Given the description of an element on the screen output the (x, y) to click on. 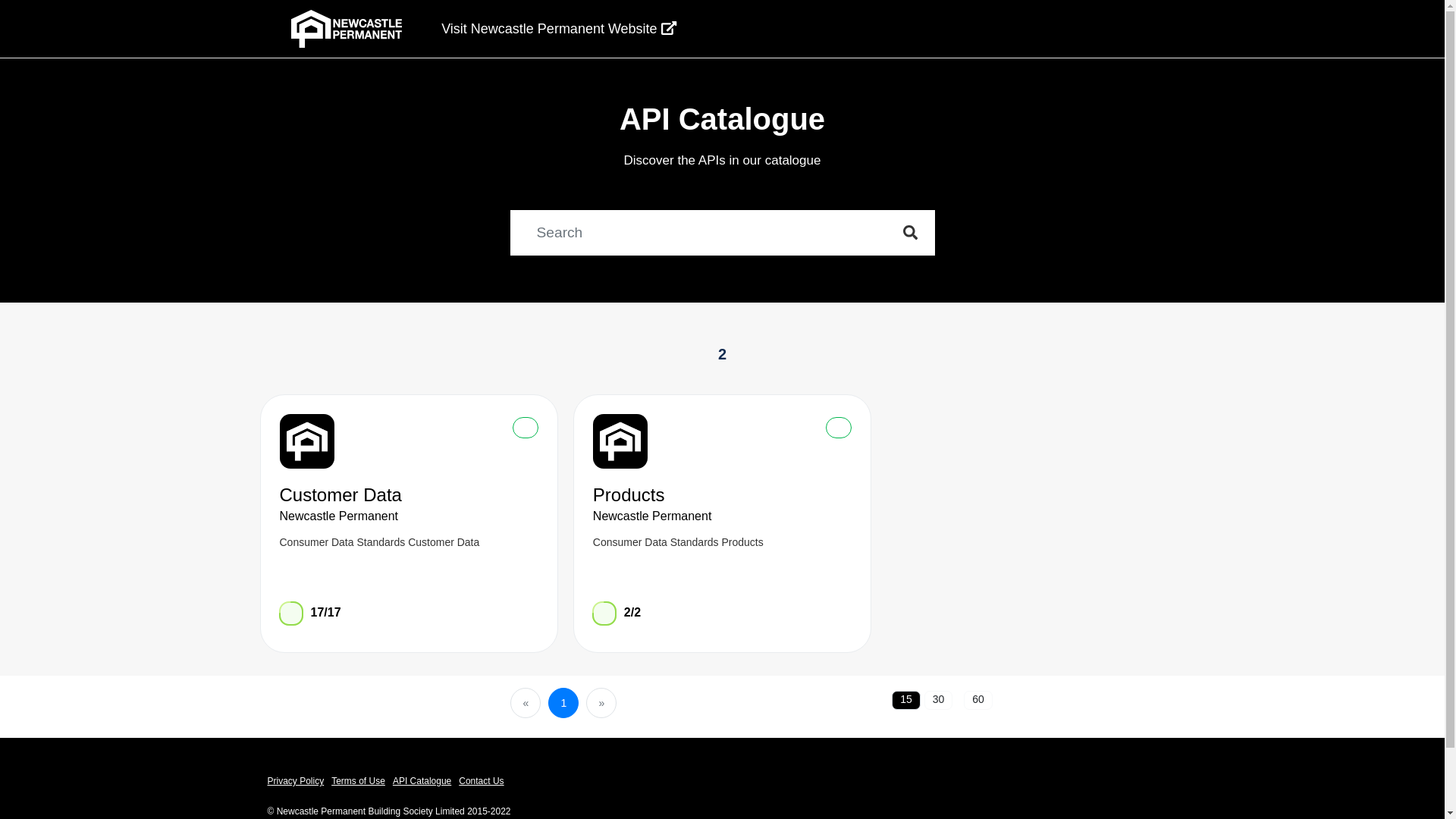
Contact Us Element type: text (484, 780)
Terms of Use Element type: text (361, 780)
Privacy Policy Element type: text (298, 780)
API Catalogue Element type: text (425, 780)
Visit Newcastle Permanent Website Element type: text (545, 28)
1
(current) Element type: text (563, 702)
